Given the description of an element on the screen output the (x, y) to click on. 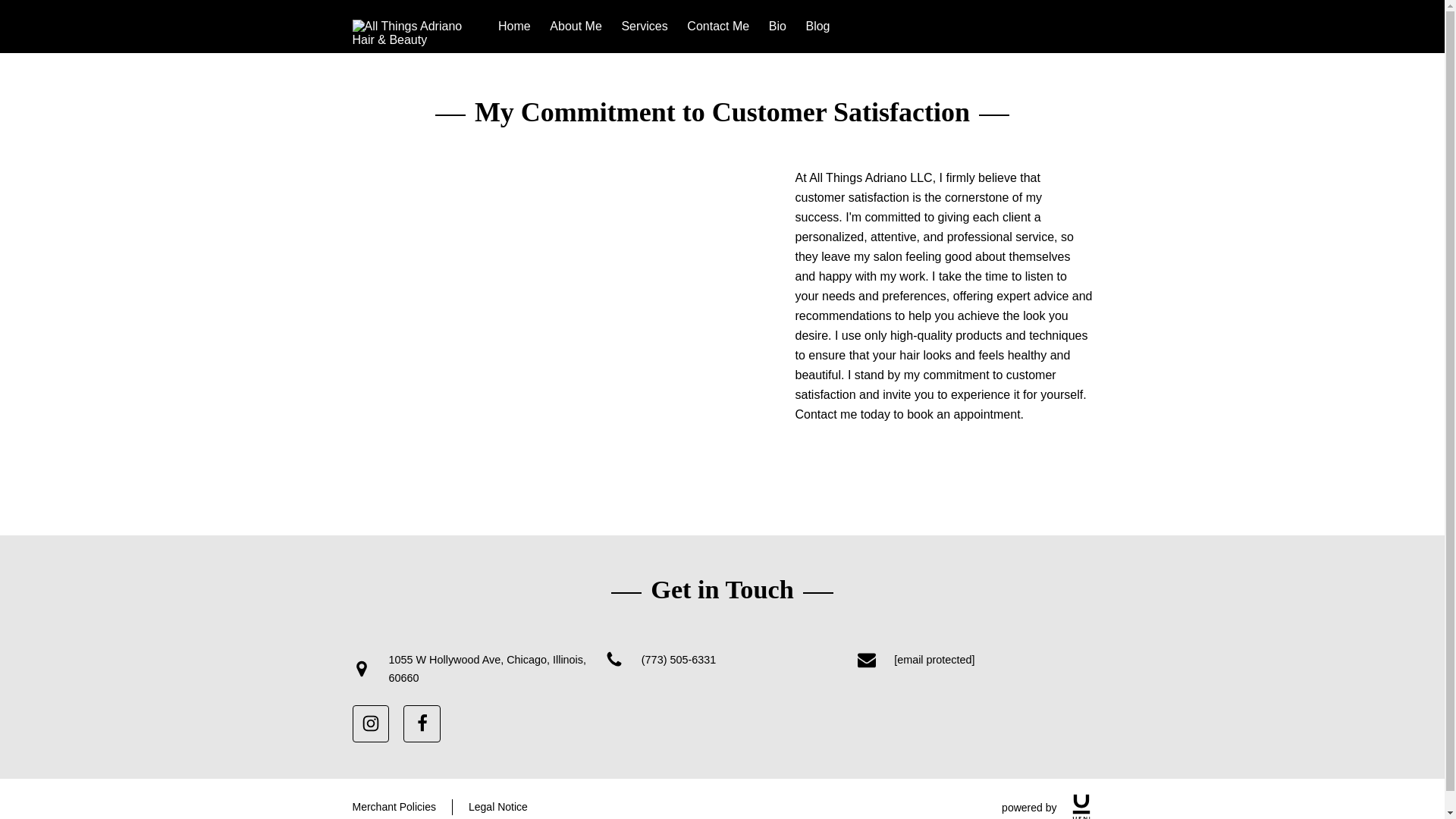
About Me (575, 26)
Blog (817, 26)
1055 W Hollywood Ave, Chicago, Illinois, 60660 (469, 668)
Contact Me (718, 26)
Merchant Policies (393, 806)
Services (643, 26)
Home (514, 26)
Legal Notice (497, 806)
Bio (777, 26)
